Given the description of an element on the screen output the (x, y) to click on. 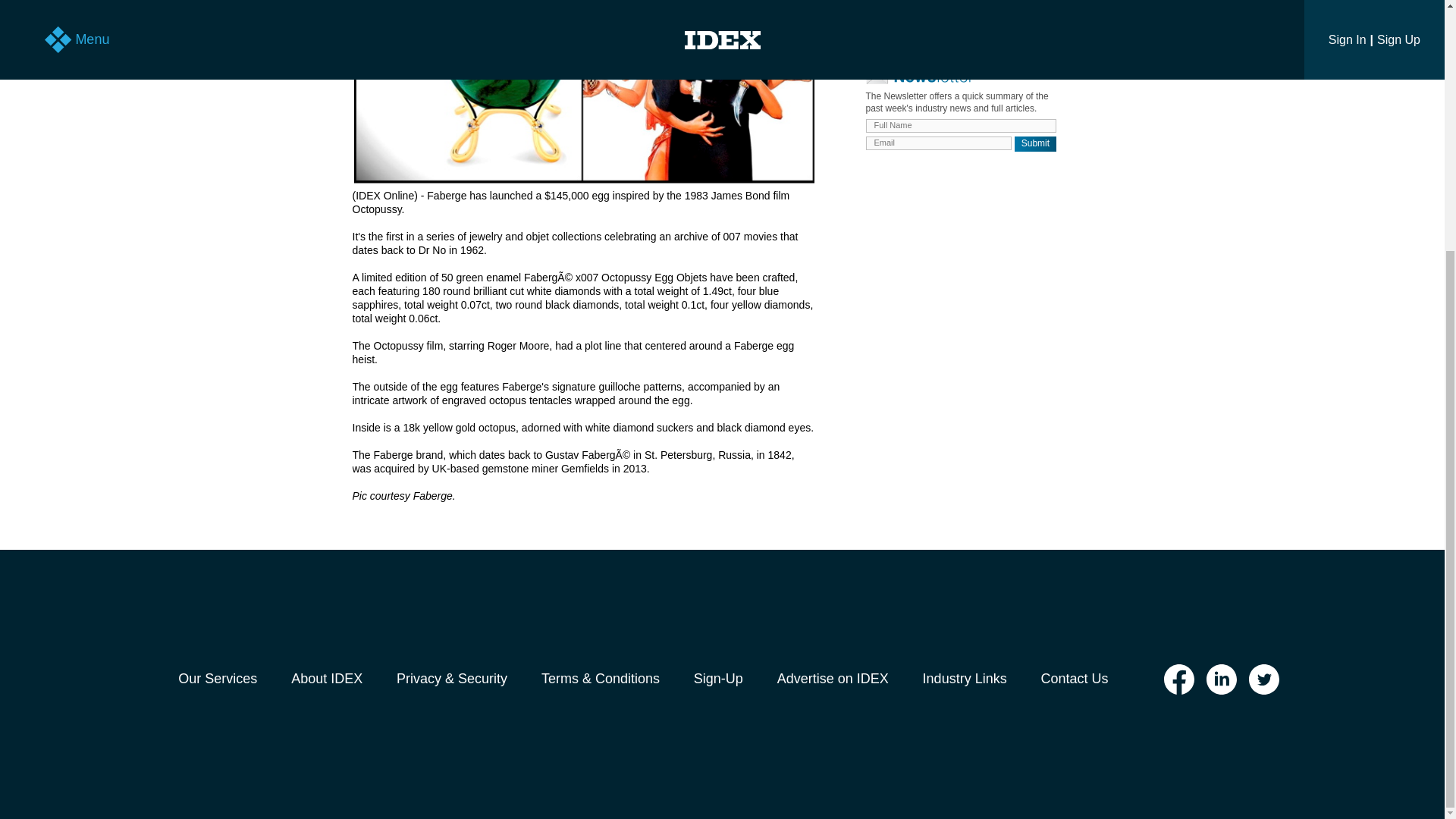
Submit (1035, 143)
Our Services (217, 678)
About IDEX (326, 678)
Related Articles (965, 38)
